Given the description of an element on the screen output the (x, y) to click on. 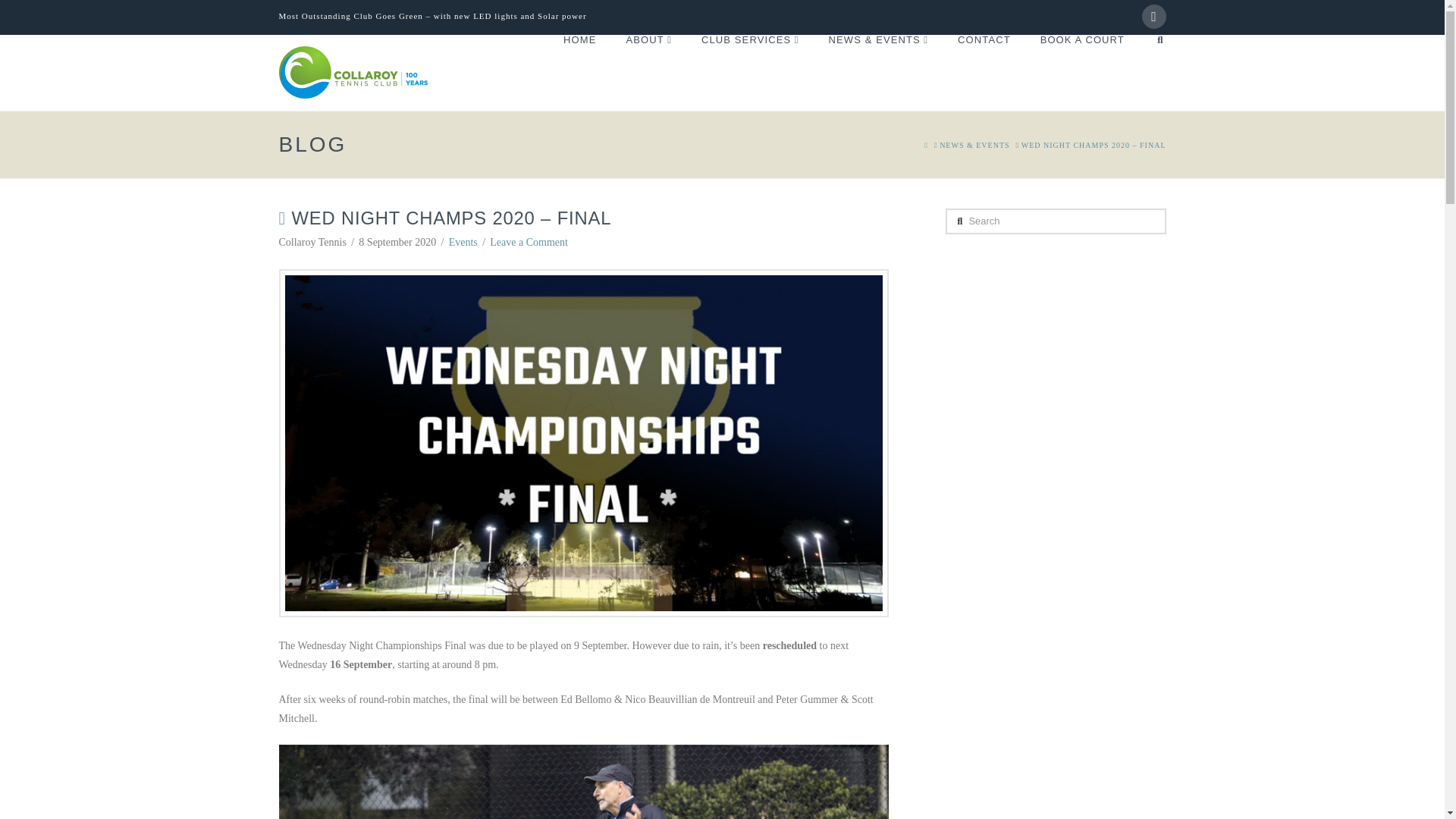
Facebook (1153, 16)
ABOUT (647, 72)
You Are Here (1094, 144)
Leave a Comment (528, 242)
BOOK A COURT (1081, 72)
CONTACT (983, 72)
CLUB SERVICES (748, 72)
Events (462, 242)
